Given the description of an element on the screen output the (x, y) to click on. 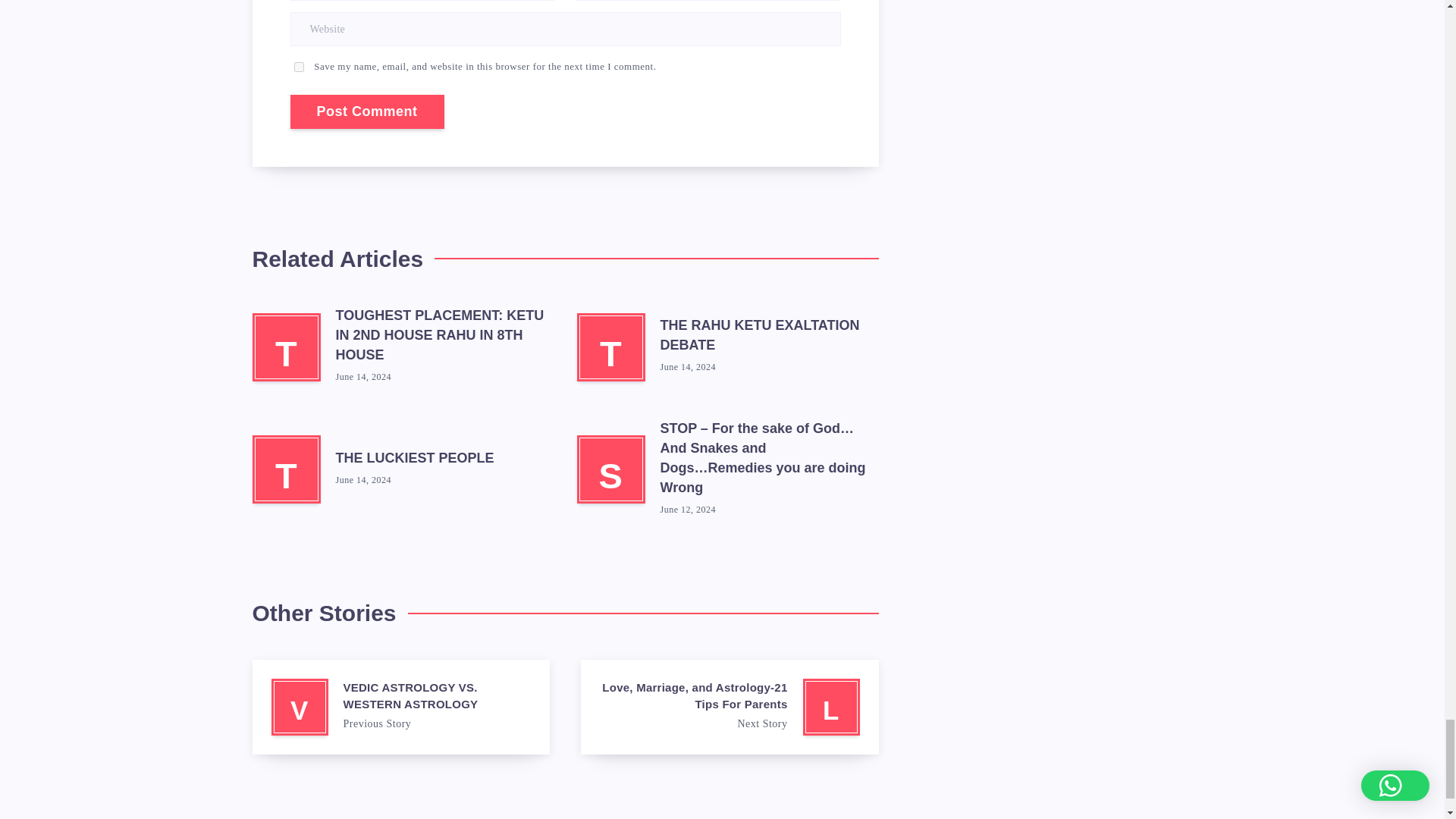
yes (299, 67)
Post Comment (366, 111)
